Given the description of an element on the screen output the (x, y) to click on. 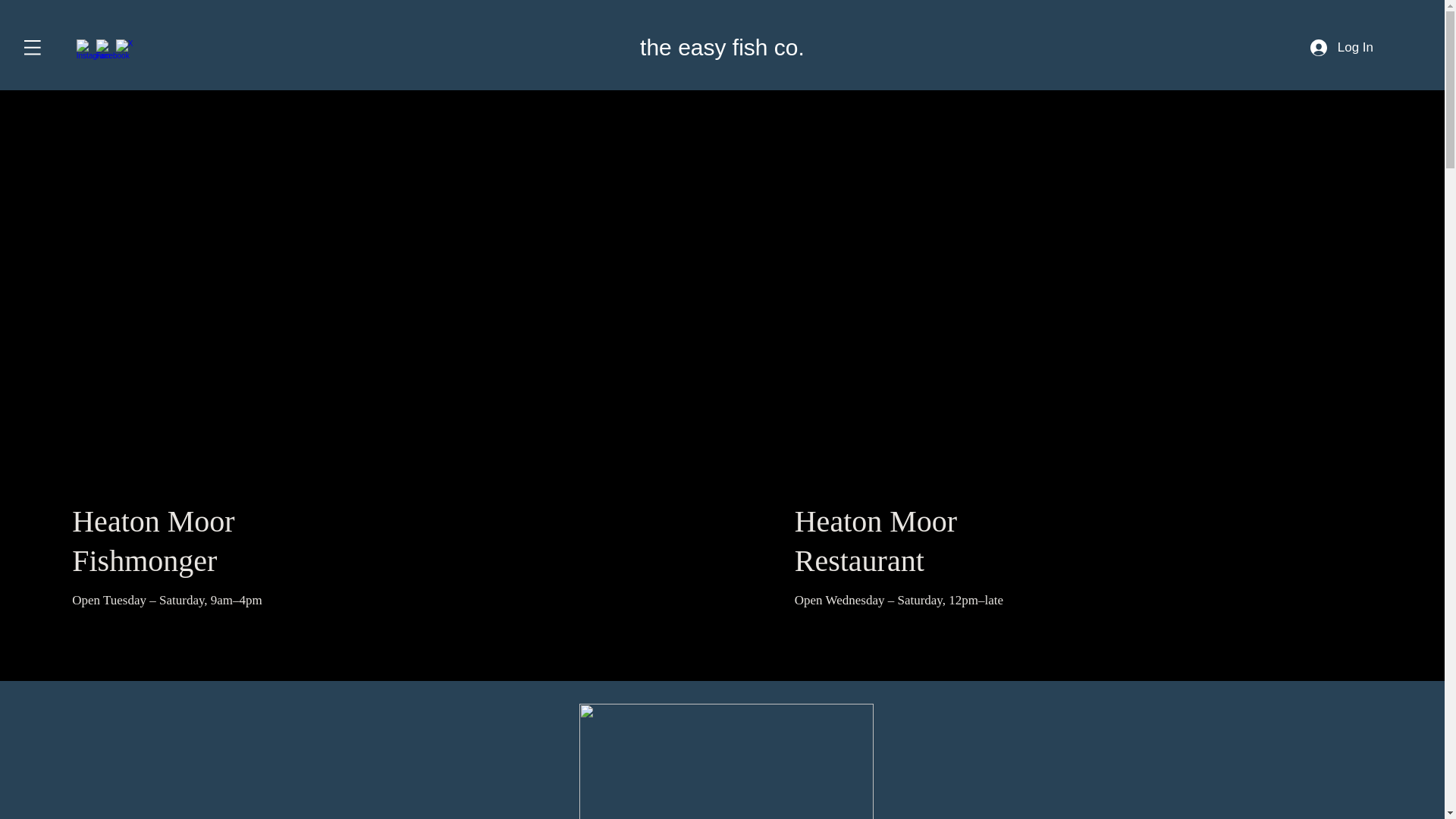
Heaton Moor Fishmonger (152, 541)
the easy fish co. (722, 47)
Heaton Moor Restaurant (875, 541)
Log In (1342, 47)
